Given the description of an element on the screen output the (x, y) to click on. 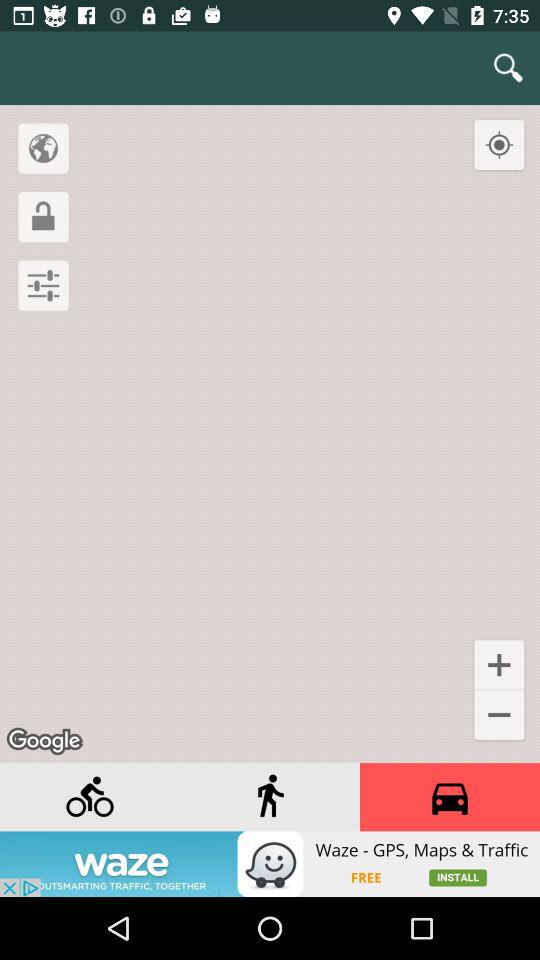
walking (270, 797)
